Given the description of an element on the screen output the (x, y) to click on. 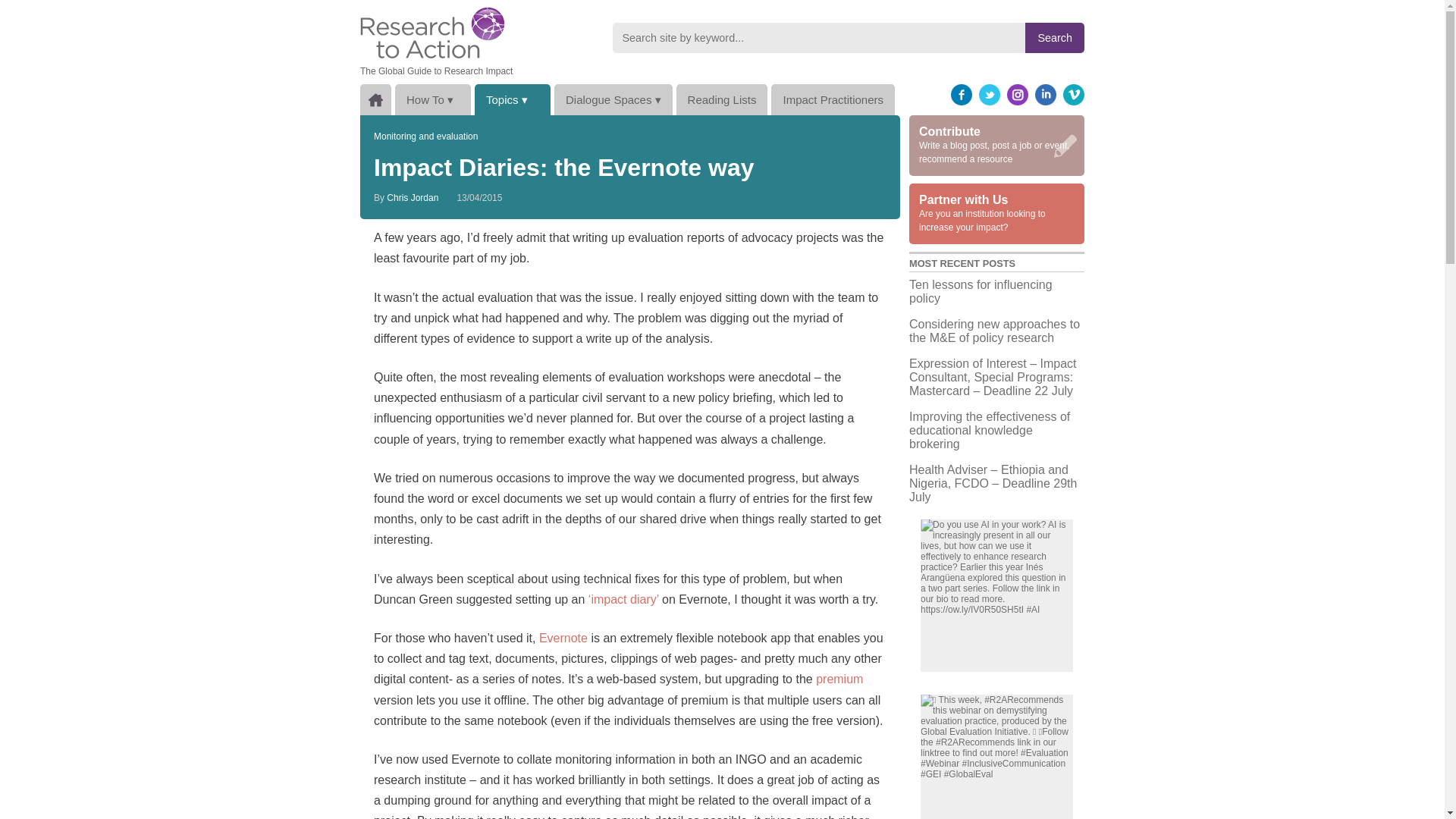
Posts by Chris Jordan (412, 197)
Research to Action (431, 32)
Return to homepage (431, 32)
Home (375, 99)
